Given the description of an element on the screen output the (x, y) to click on. 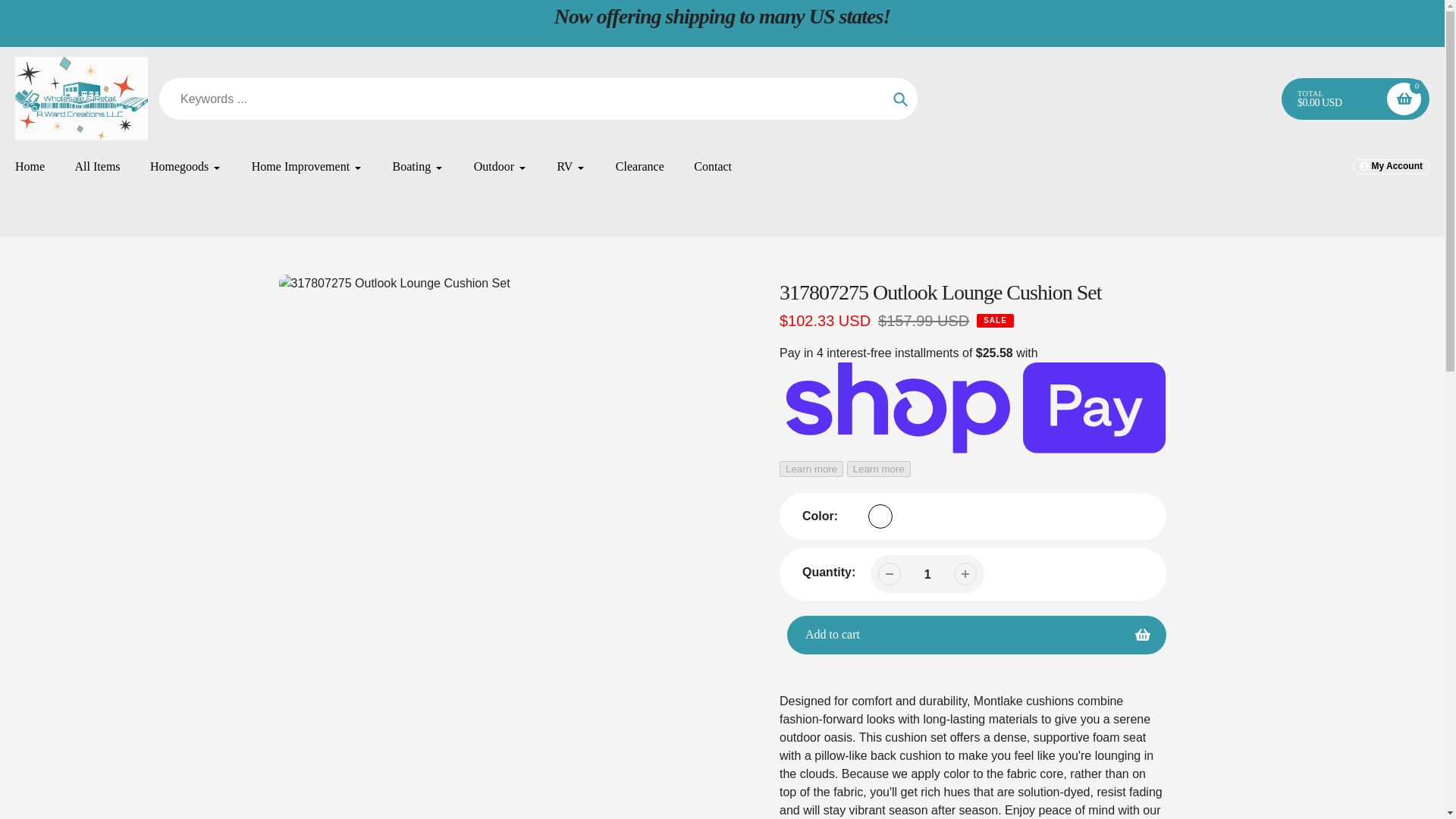
Homegoods (185, 167)
Home Improvement (306, 167)
1 (927, 574)
0 (1404, 98)
Home (29, 167)
All Items (97, 167)
Heather Grey (879, 516)
